Given the description of an element on the screen output the (x, y) to click on. 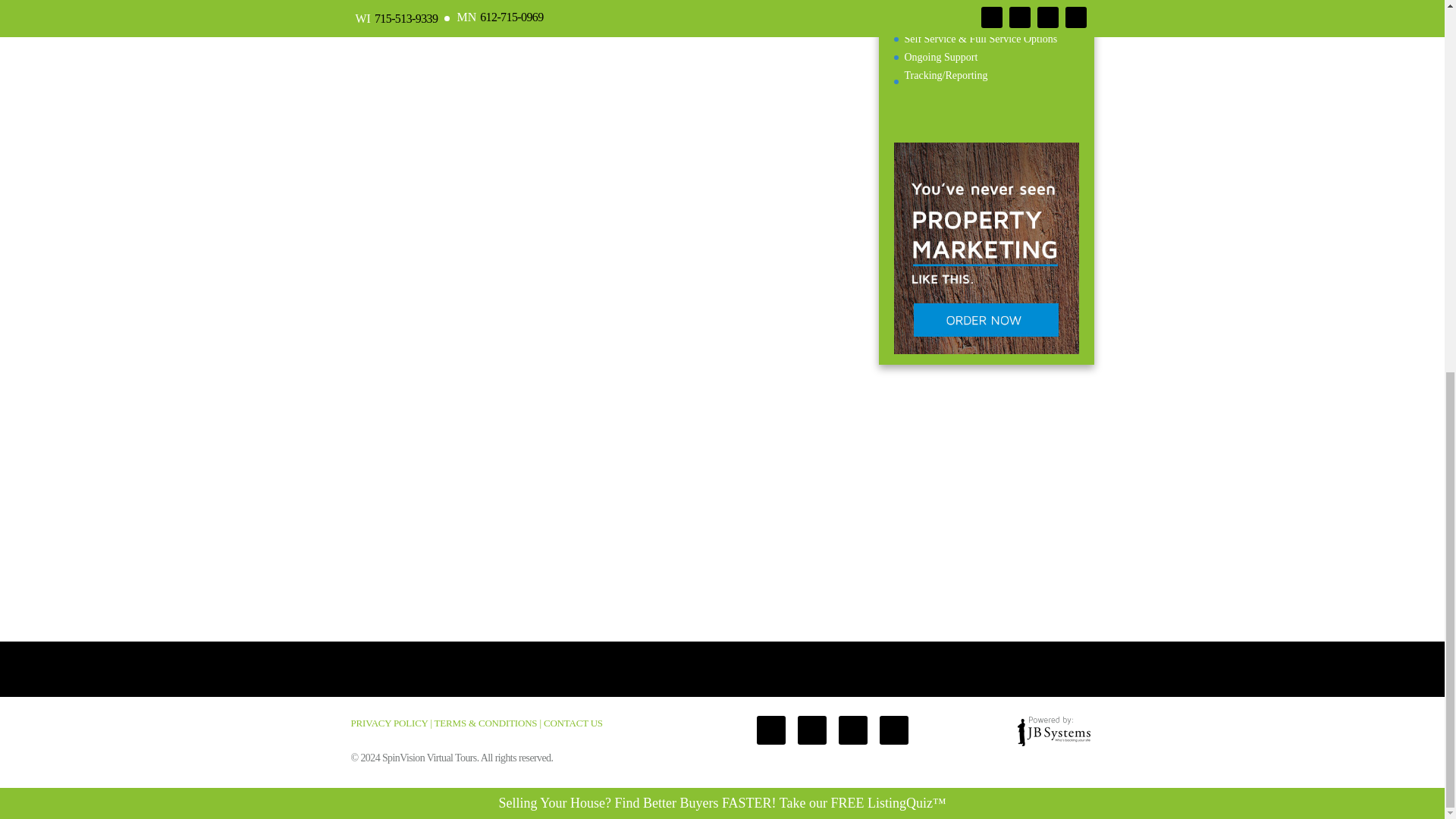
PRIVACY POLICY (389, 722)
CONTACT US (572, 722)
